Given the description of an element on the screen output the (x, y) to click on. 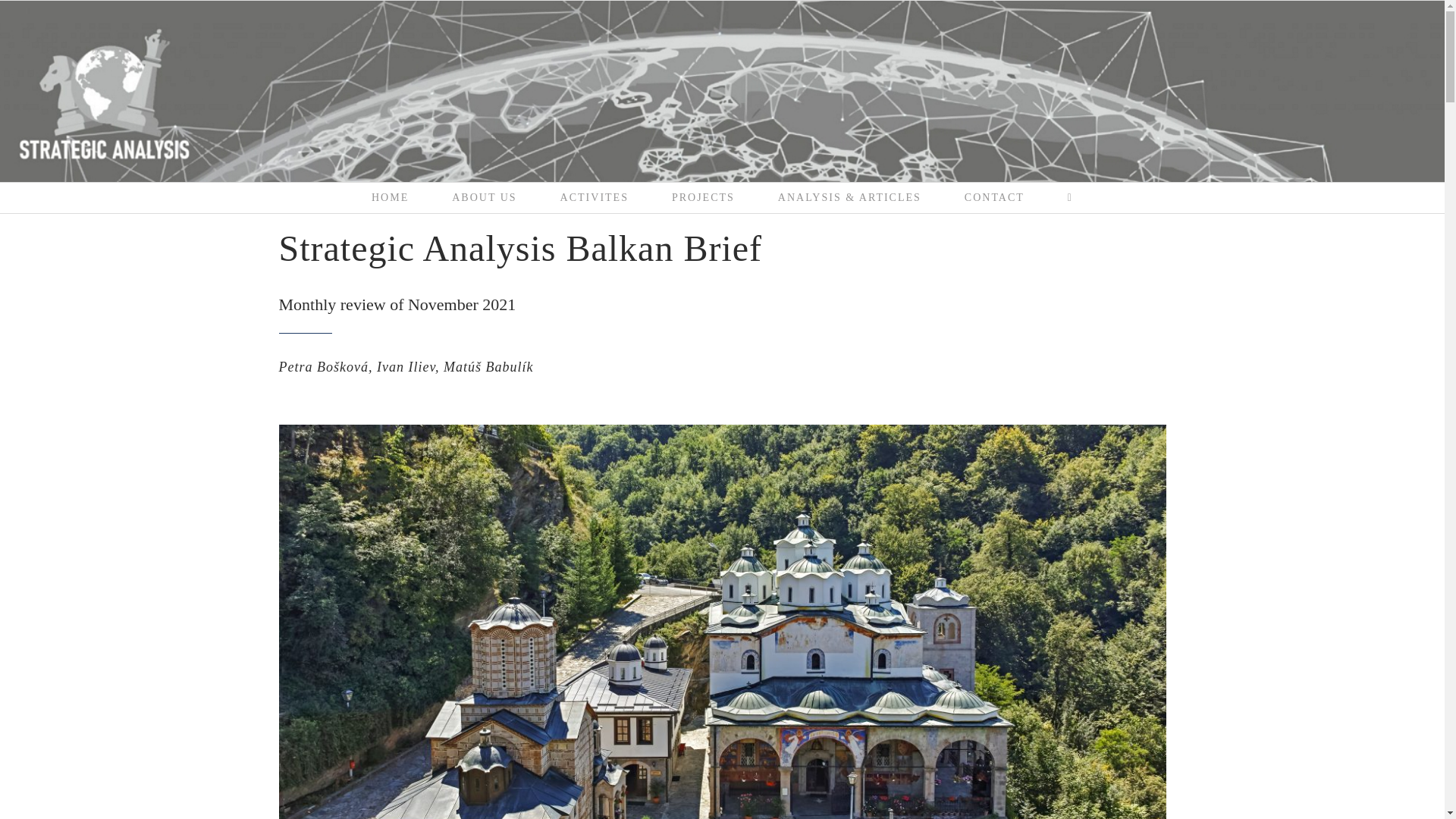
CONTACT (993, 197)
PROJECTS (702, 197)
Toggle Sliding Bar (1069, 197)
ABOUT US (484, 197)
HOME (390, 197)
ACTIVITES (593, 197)
